Given the description of an element on the screen output the (x, y) to click on. 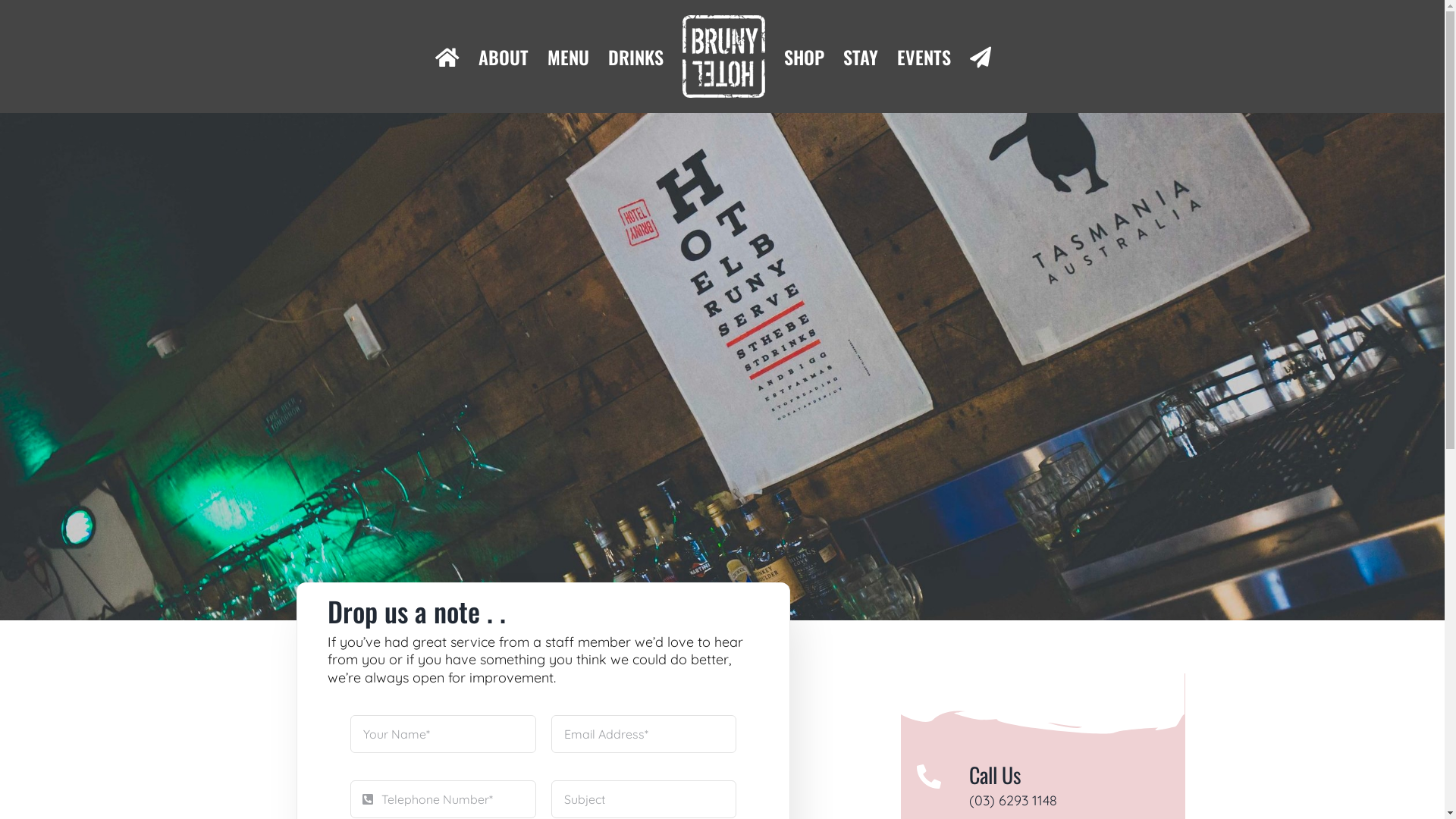
ABOUT Element type: text (502, 56)
EVENTS Element type: text (923, 56)
SHOP Element type: text (804, 56)
(03) 6293 1148 Element type: text (1013, 800)
MENU Element type: text (568, 56)
DRINKS Element type: text (635, 56)
STAY Element type: text (860, 56)
